Given the description of an element on the screen output the (x, y) to click on. 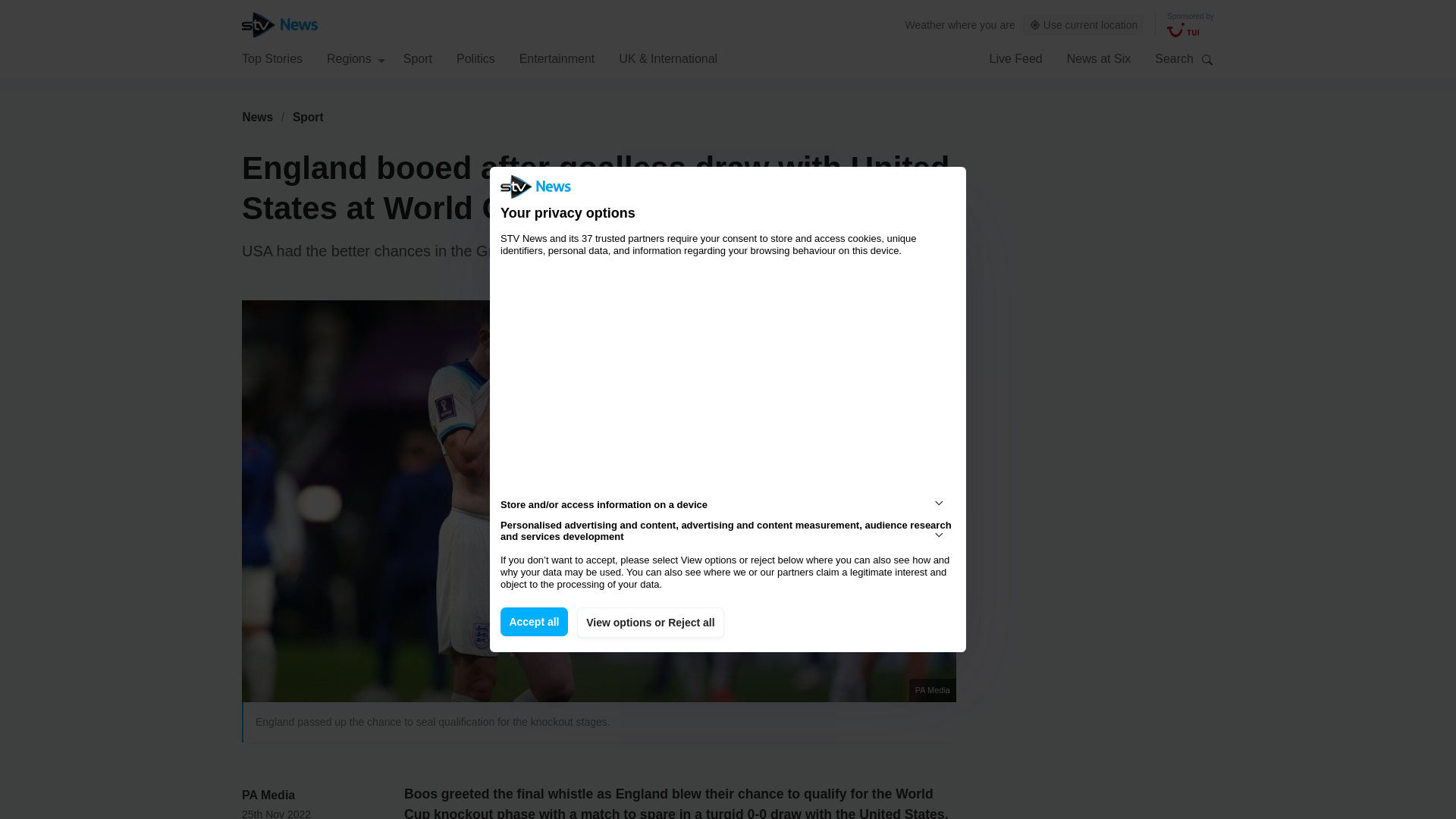
Politics (476, 57)
Live Feed (1015, 57)
Search (1206, 59)
News at Six (1099, 57)
News (257, 116)
Sport (308, 116)
Weather (924, 24)
Play Video (606, 507)
Entertainment (557, 57)
Top Stories (271, 57)
Regions (355, 57)
Use current location (1083, 25)
